Given the description of an element on the screen output the (x, y) to click on. 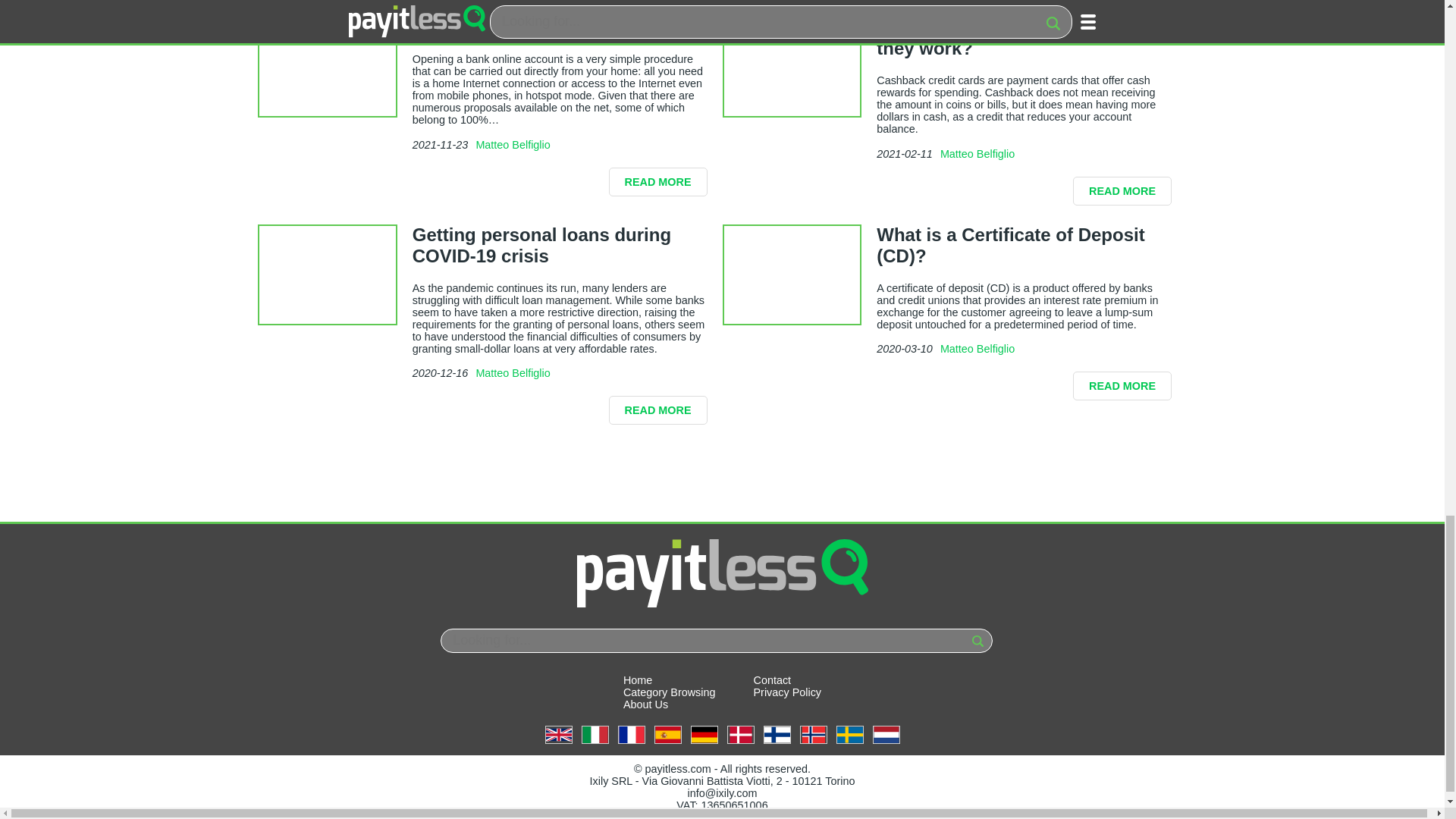
READ MORE (1122, 385)
Matteo Belfiglio (513, 144)
Opening an online bank account (553, 26)
Cashback credit cards: how do they work? (1010, 37)
Matteo Belfiglio (977, 153)
Category Browsing (669, 692)
READ MORE (1122, 190)
READ MORE (658, 181)
Getting personal loans during COVID-19 crisis (541, 245)
Contact (773, 680)
